Given the description of an element on the screen output the (x, y) to click on. 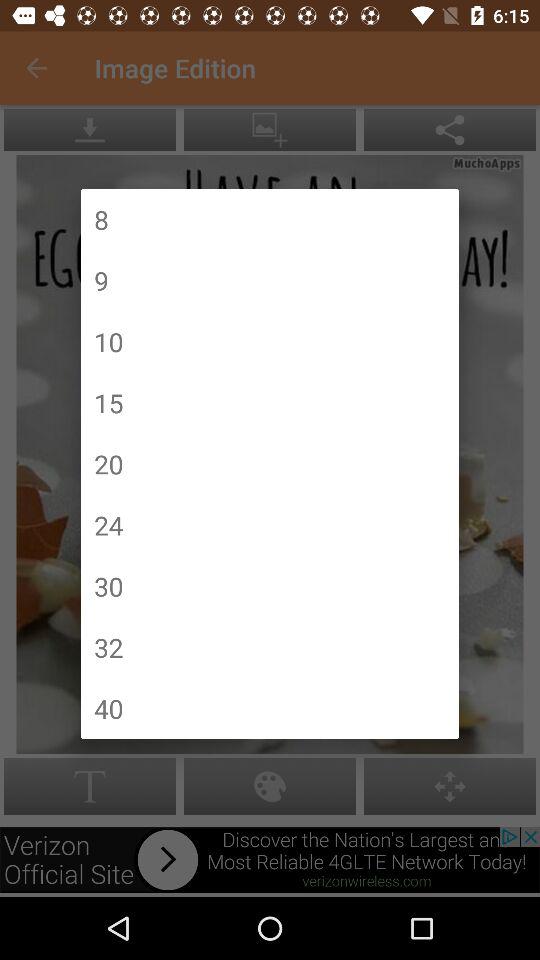
select the icon below 32 (108, 708)
